Given the description of an element on the screen output the (x, y) to click on. 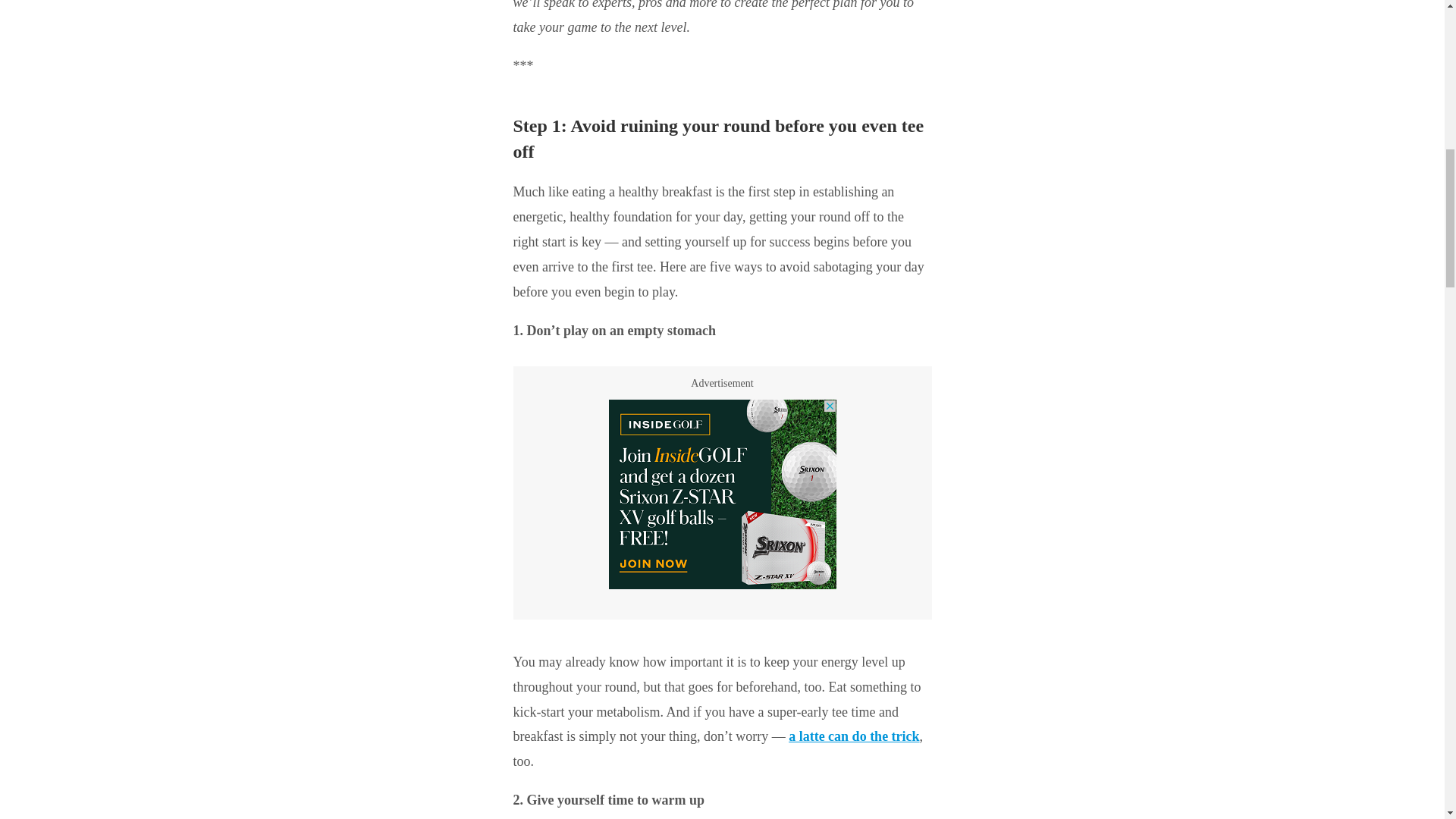
a latte can do the trick (853, 735)
3rd party ad content (721, 493)
